Given the description of an element on the screen output the (x, y) to click on. 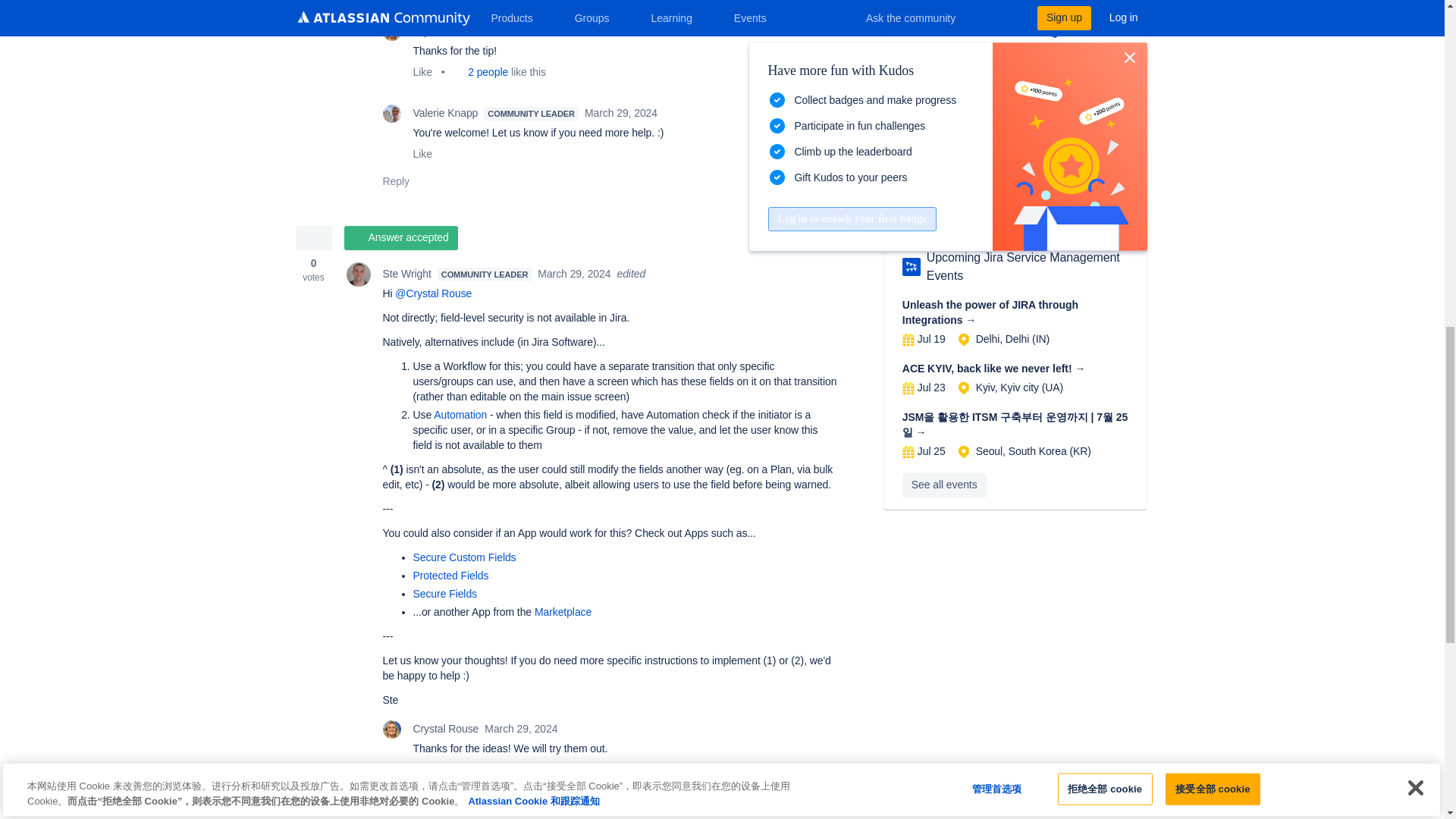
Ste Wright (357, 274)
Crystal Rouse (390, 31)
Valerie Knapp (390, 113)
Crystal Rouse (390, 729)
